Given the description of an element on the screen output the (x, y) to click on. 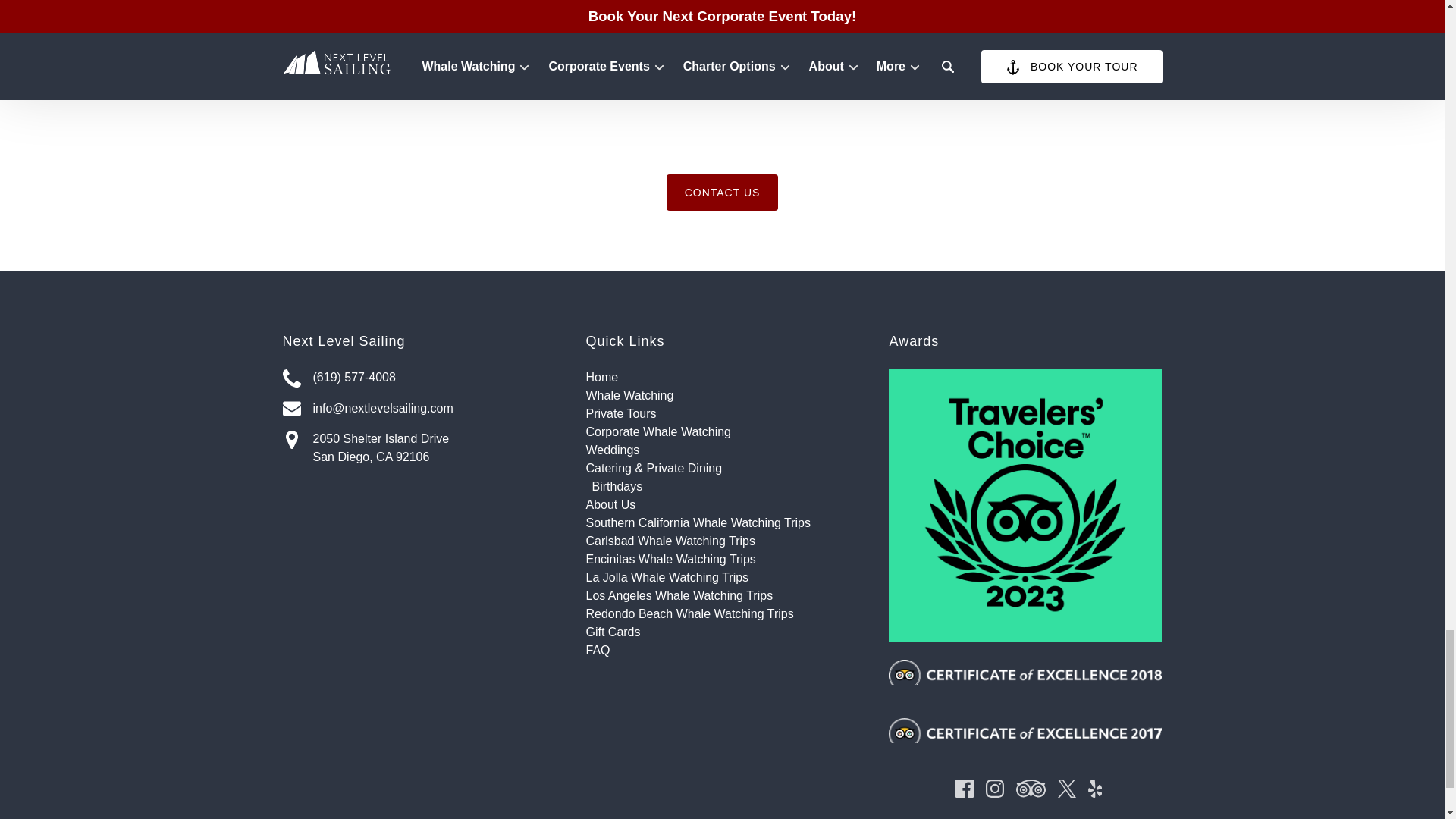
Envelope (290, 408)
Map Marker (290, 439)
Phone (290, 378)
